Given the description of an element on the screen output the (x, y) to click on. 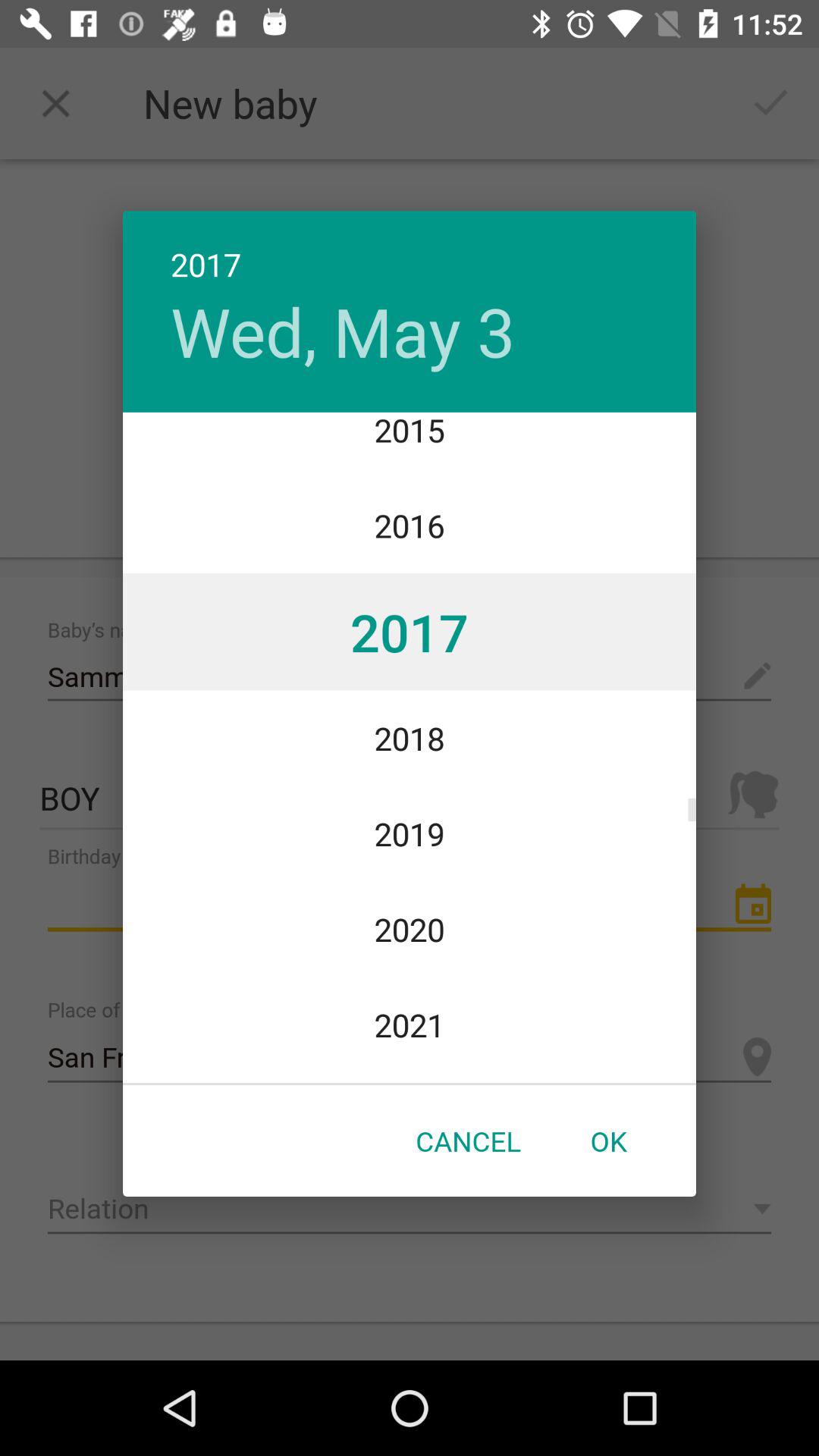
turn off the item to the left of the ok (467, 1140)
